Given the description of an element on the screen output the (x, y) to click on. 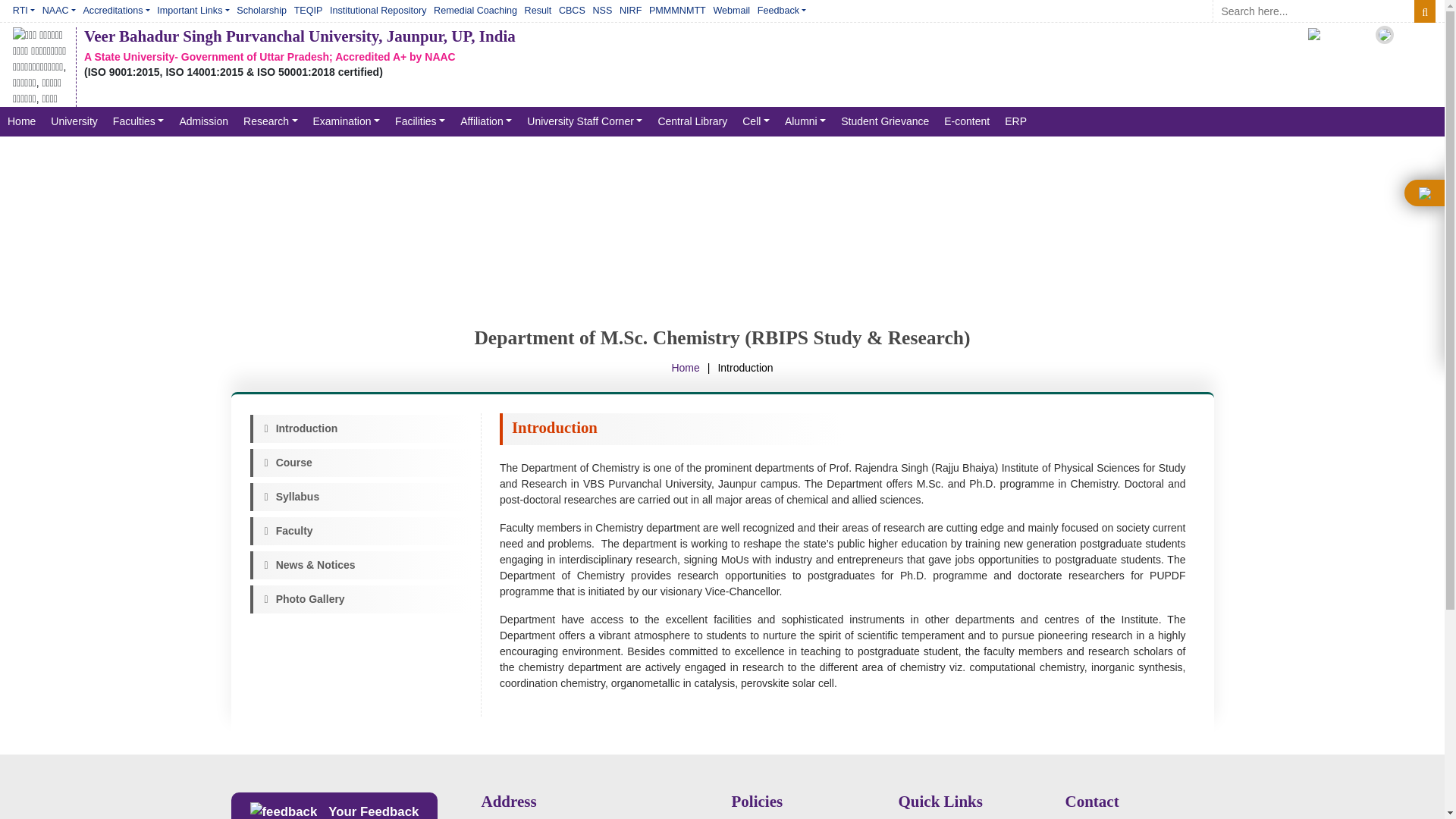
RTI (23, 11)
feedback (283, 810)
NAAC (59, 11)
Accreditations (117, 11)
